Given the description of an element on the screen output the (x, y) to click on. 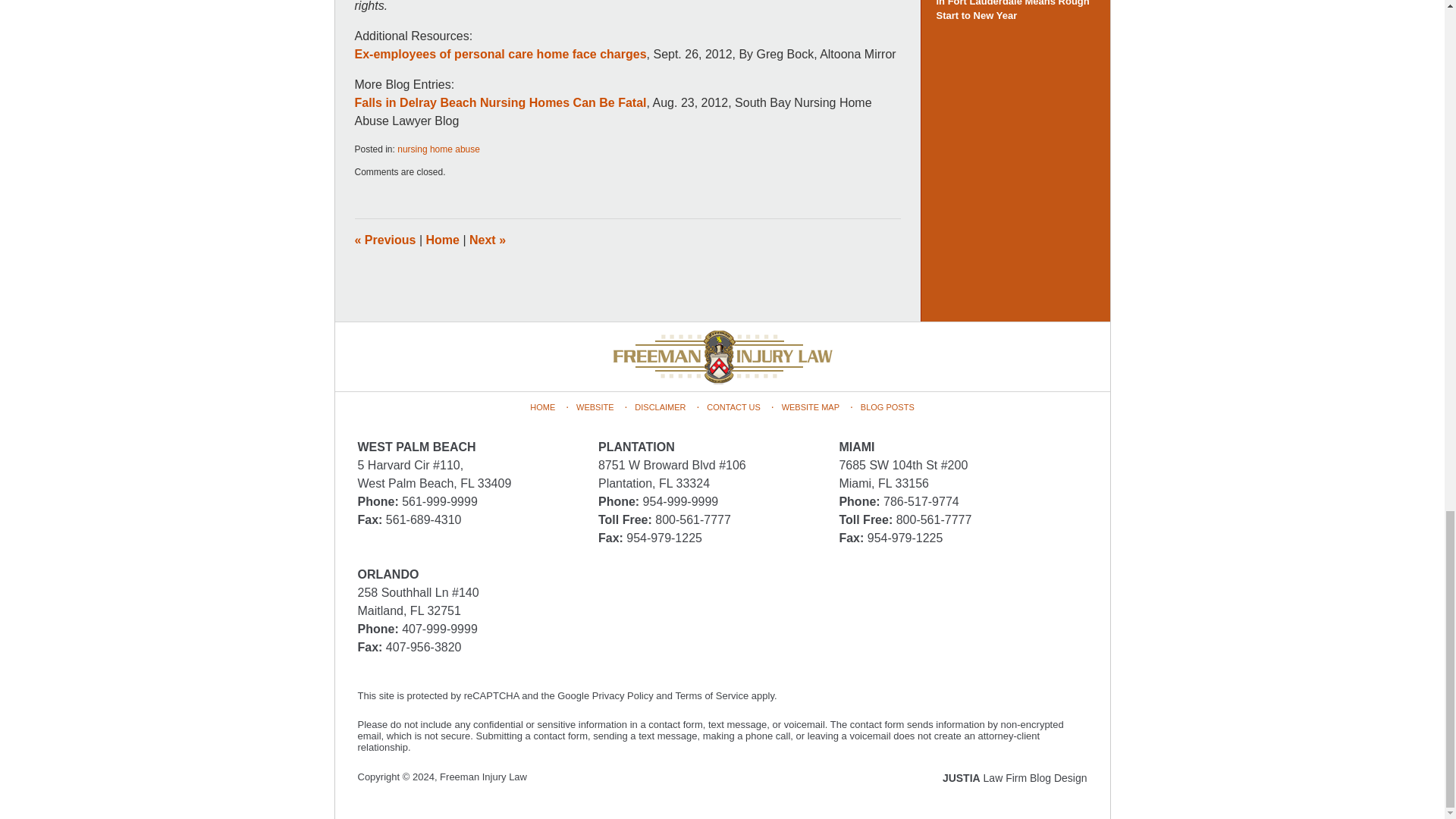
Fellsmere Nursing Homes Have Average 7-8 Health Deficiencies (486, 239)
Falls in Delray Beach Nursing Homes Can Be Fatal (500, 102)
View all posts in nursing home abuse (438, 149)
Ex-employees of personal care home face charges (500, 53)
Home (443, 239)
nursing home abuse (438, 149)
